Given the description of an element on the screen output the (x, y) to click on. 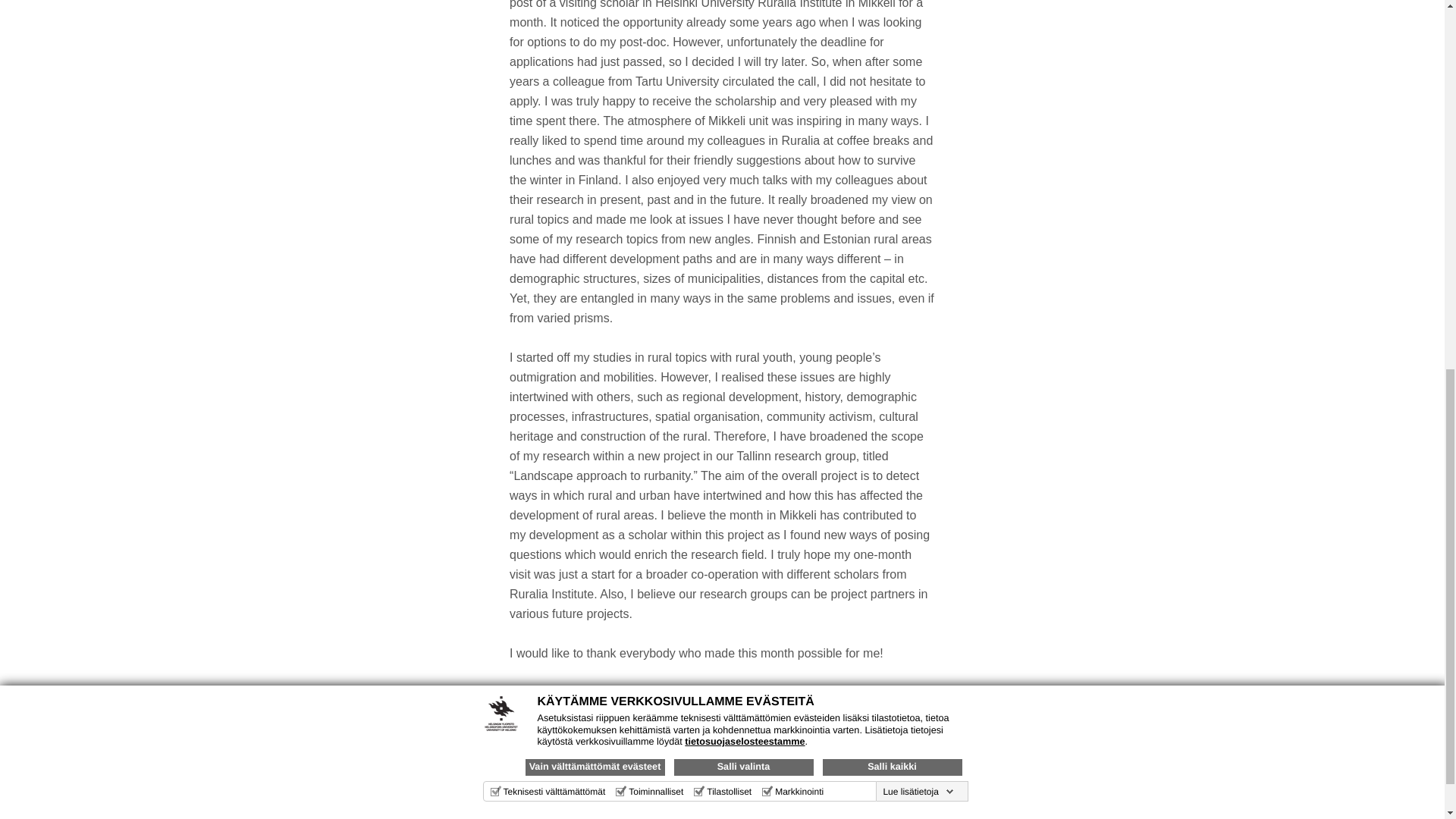
Salli kaikki (891, 57)
Salli valinta (742, 57)
tietosuojaselosteestamme (744, 32)
